Given the description of an element on the screen output the (x, y) to click on. 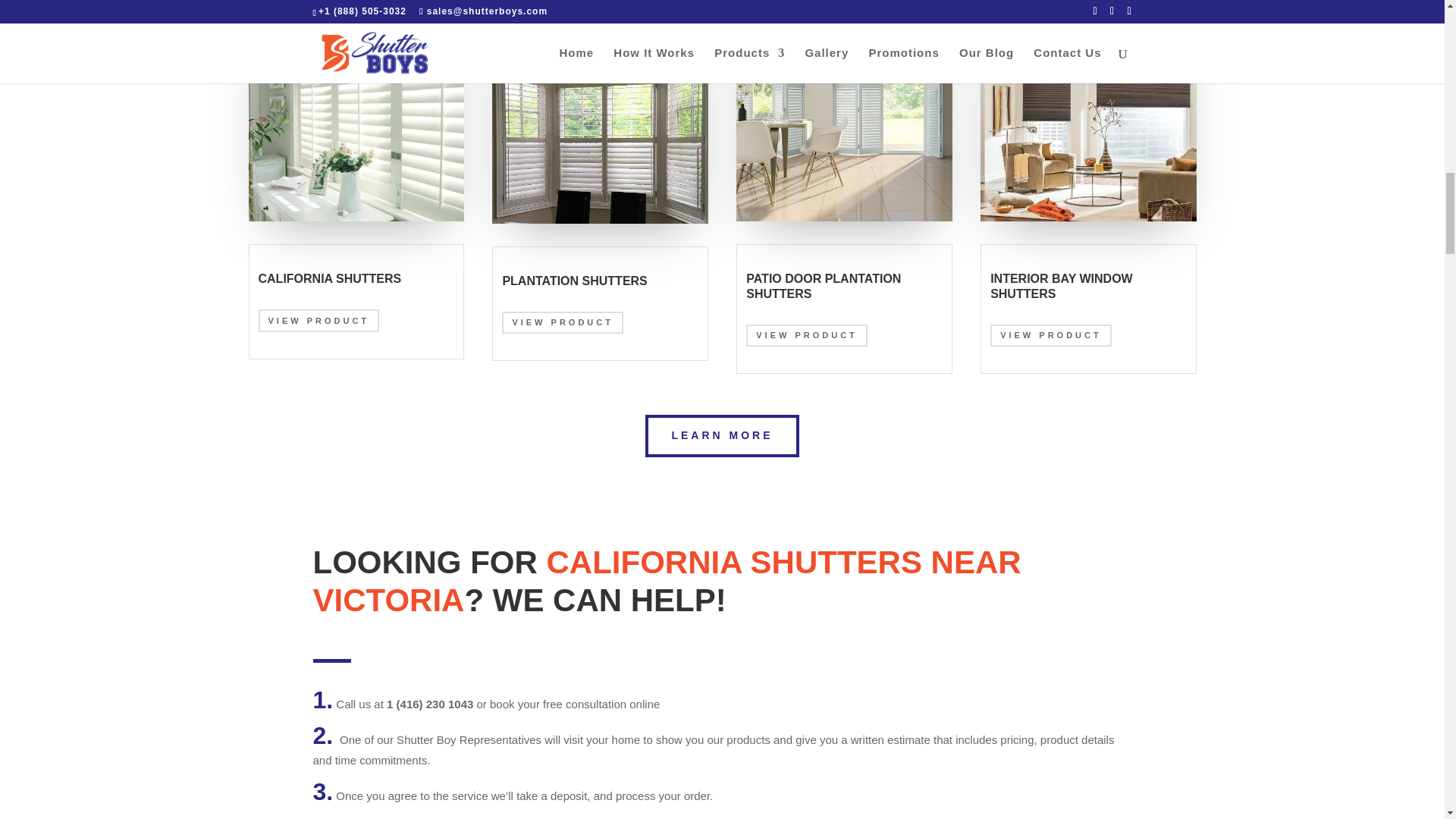
Patio Door Plantation Shutters (844, 113)
Interior Bay Window Shutters (1087, 113)
California Shutters Toronto (356, 113)
VIEW PRODUCT (1051, 335)
LEARN MORE (721, 435)
VIEW PRODUCT (806, 335)
VIEW PRODUCT (562, 322)
VIEW PRODUCT (317, 320)
Plantation Shutters Toronto (599, 114)
